Given the description of an element on the screen output the (x, y) to click on. 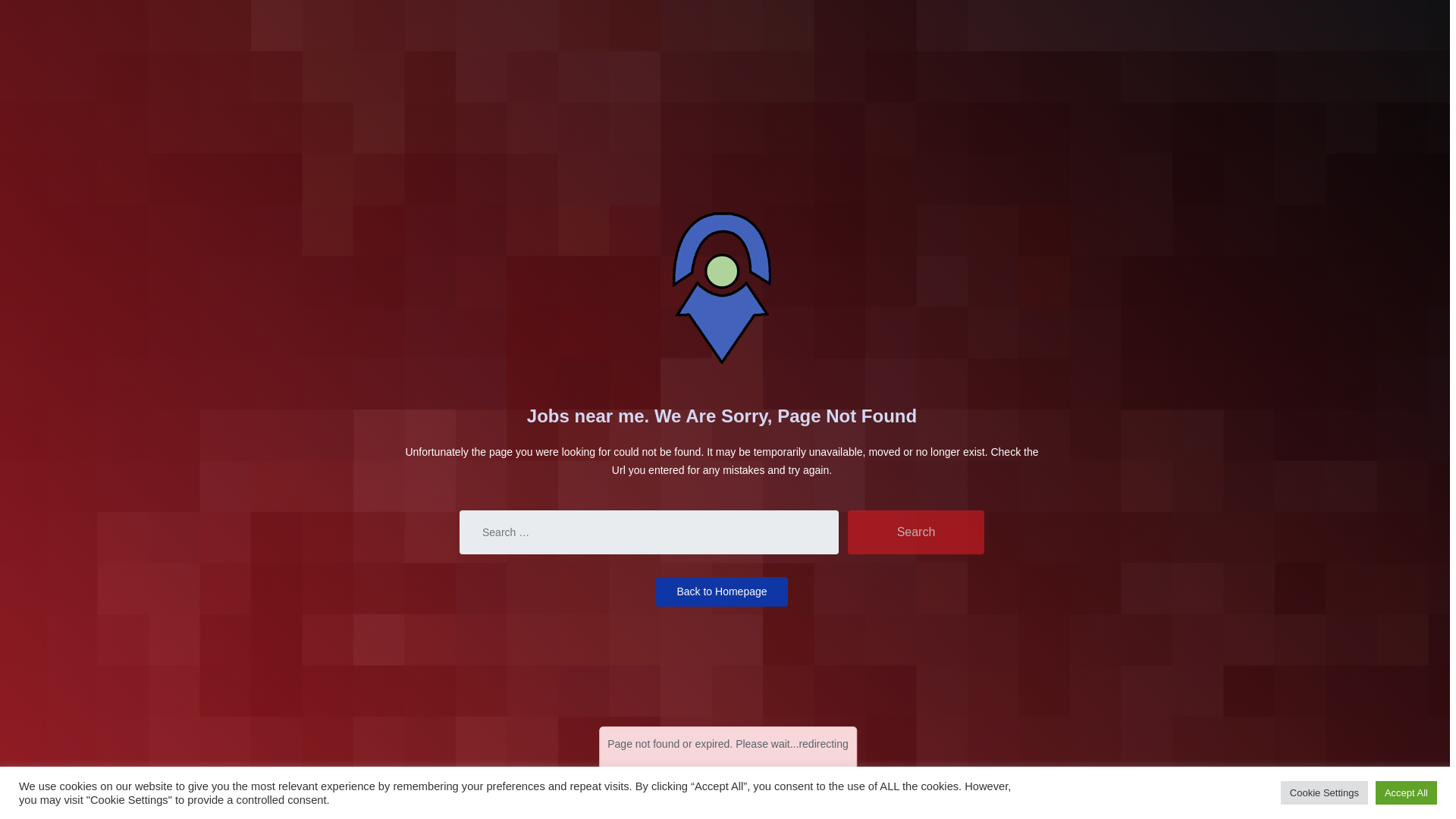
Accept All (1406, 792)
Search (915, 532)
Cookie Settings (1324, 792)
Search (915, 532)
Search (915, 532)
Back to Homepage (721, 591)
